Given the description of an element on the screen output the (x, y) to click on. 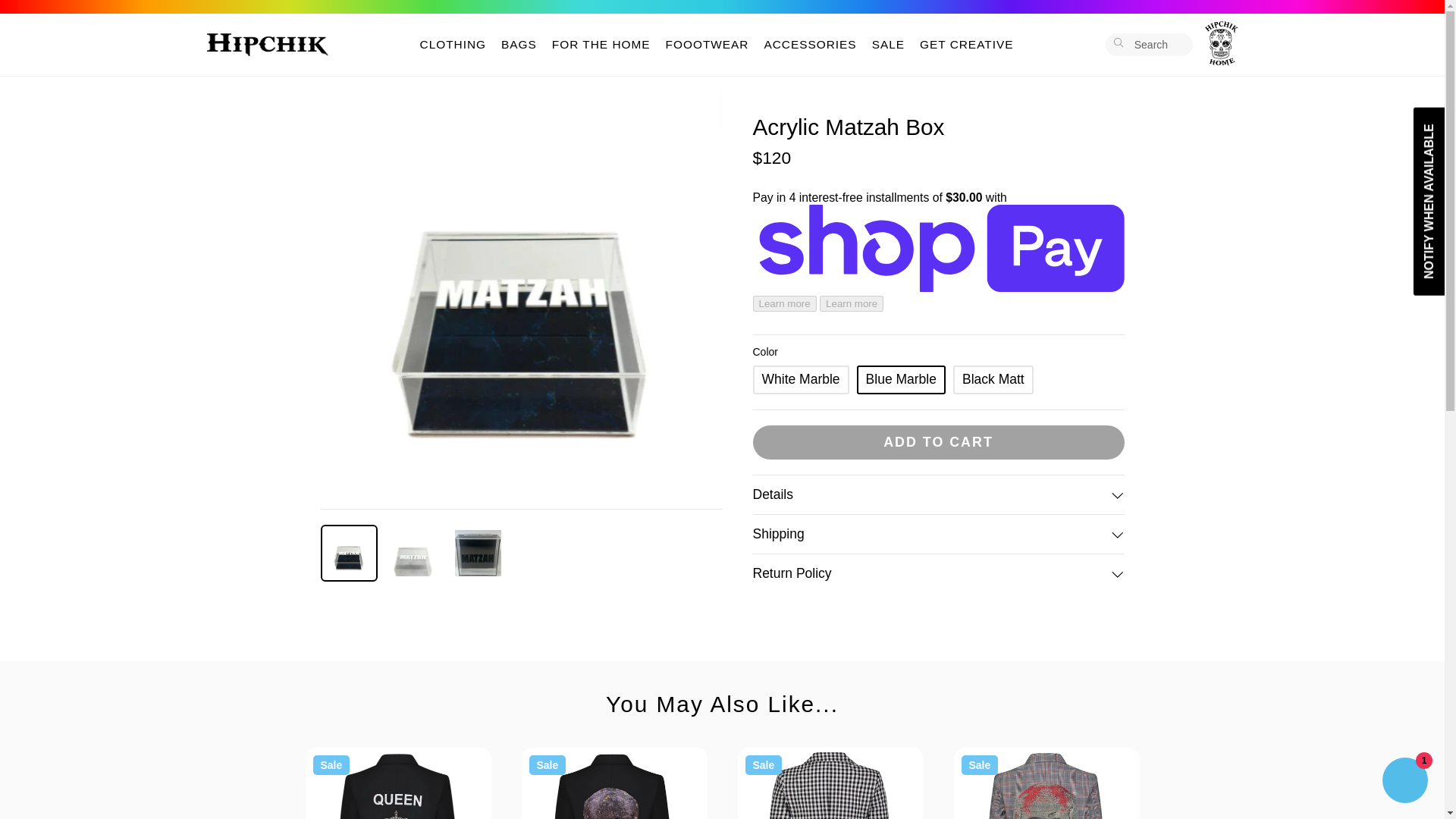
FOR THE HOME (601, 44)
BAGS (518, 44)
CLOTHING (453, 44)
Shopify online store chat (1404, 781)
SALE (888, 44)
FOOOTWEAR (707, 44)
ACCESSORIES (809, 44)
GET CREATIVE (966, 44)
